Given the description of an element on the screen output the (x, y) to click on. 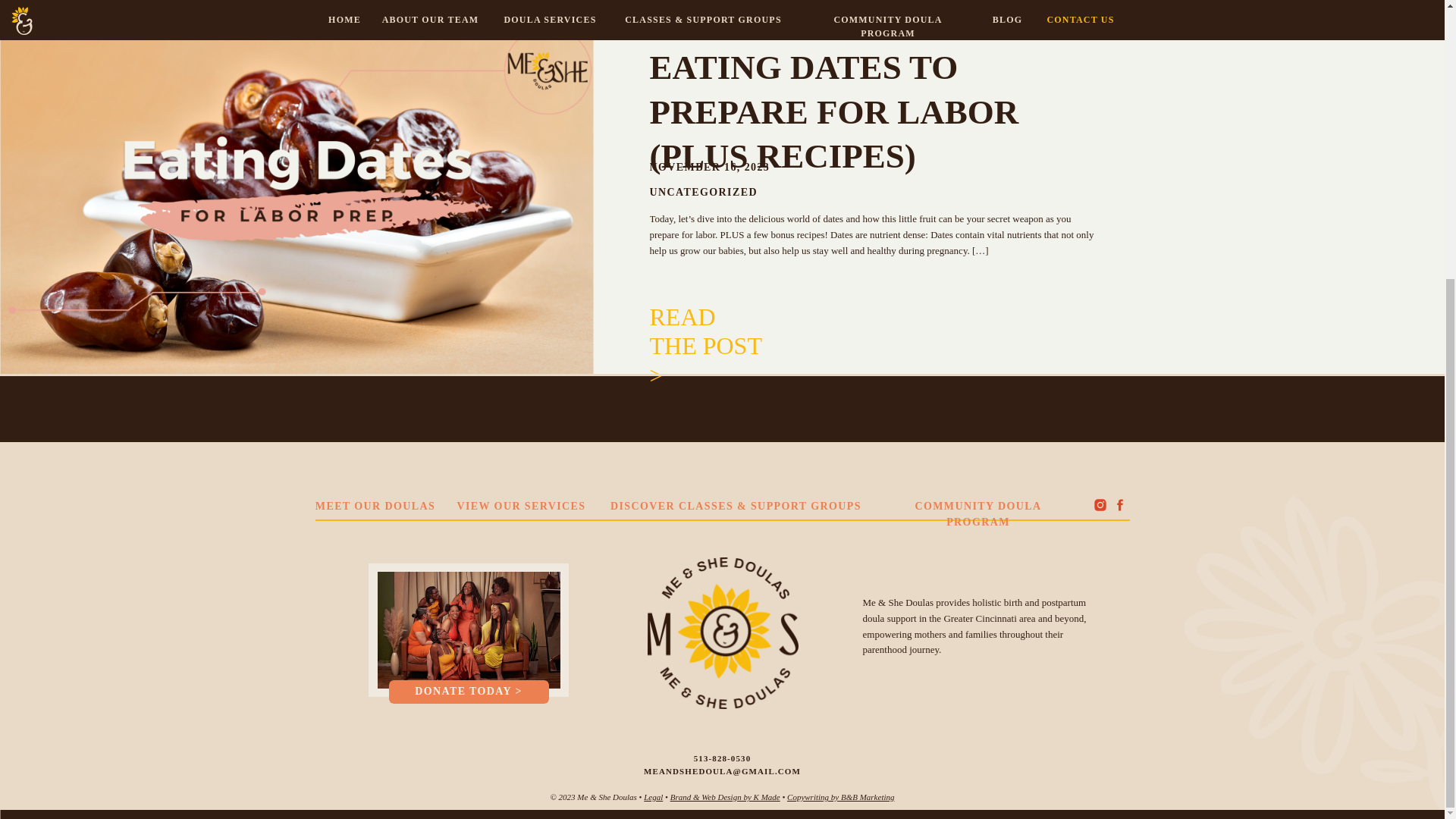
UNCATEGORIZED (703, 192)
COMMUNITY DOULA PROGRAM (977, 504)
MEET OUR DOULAS (375, 504)
VIEW OUR SERVICES (520, 504)
Legal (652, 796)
